Given the description of an element on the screen output the (x, y) to click on. 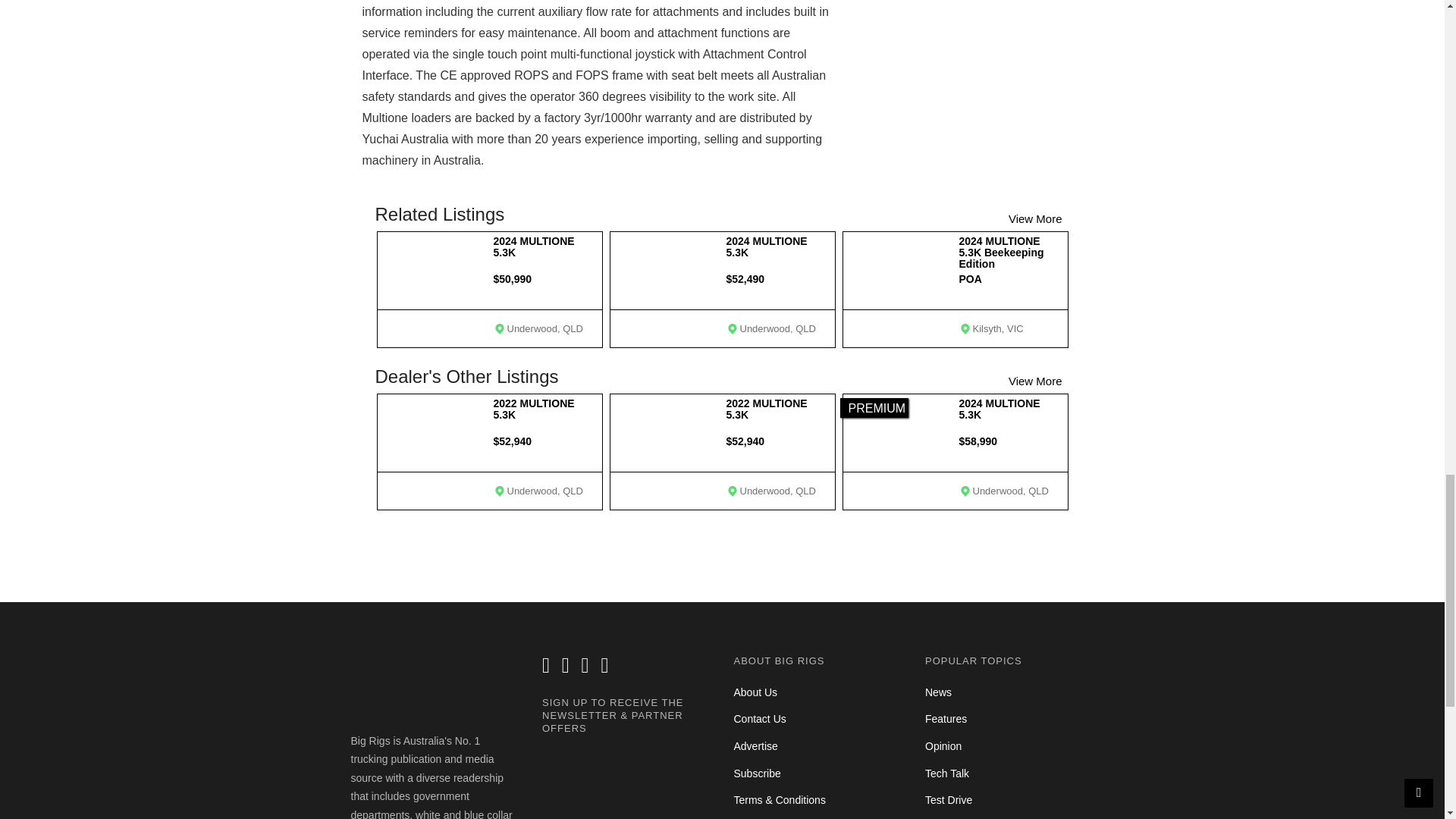
Newsletter signup for Footer (626, 782)
